Given the description of an element on the screen output the (x, y) to click on. 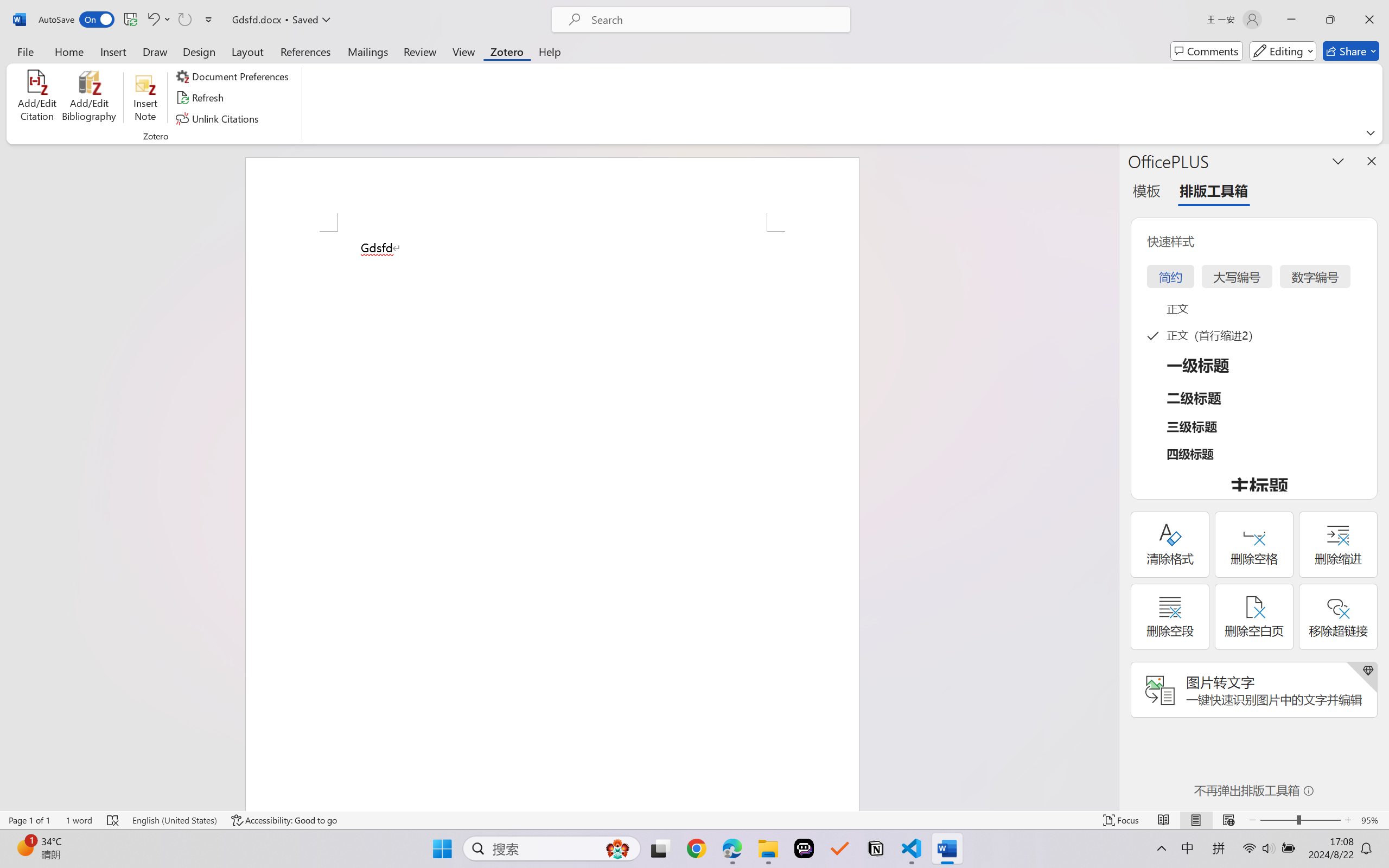
Add/Edit Bibliography (88, 97)
